Given the description of an element on the screen output the (x, y) to click on. 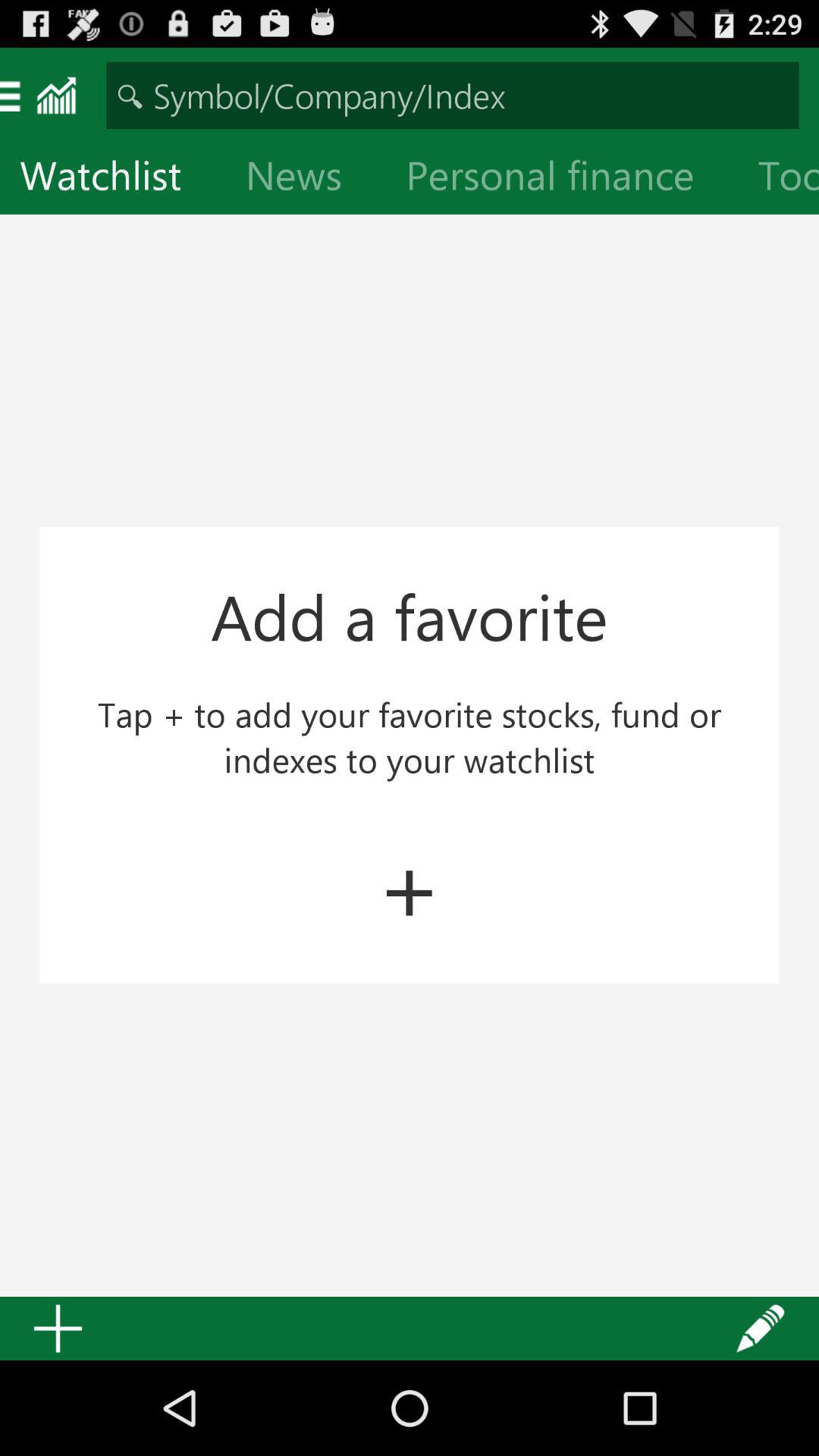
select the icon to the left of the tools item (562, 178)
